Given the description of an element on the screen output the (x, y) to click on. 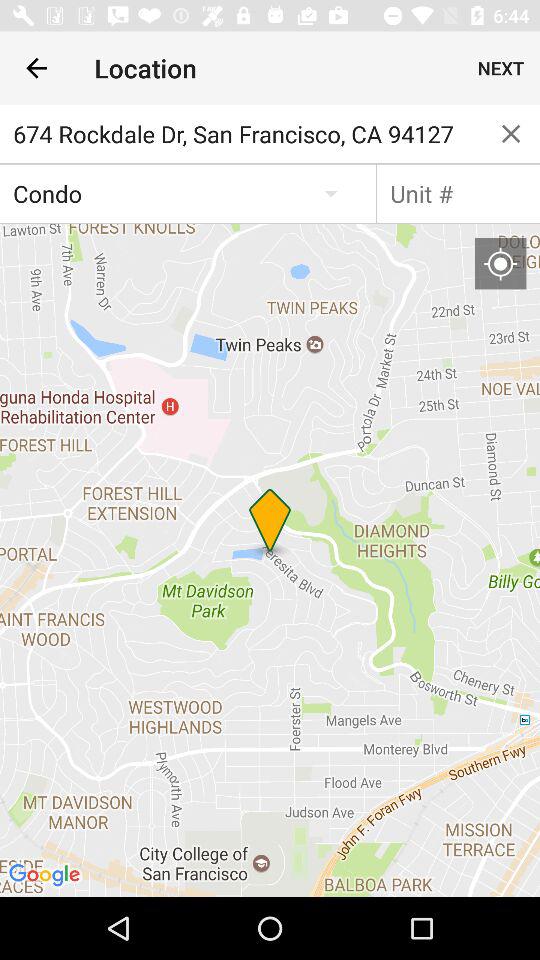
turn on item next to 674 rockdale dr item (511, 133)
